Given the description of an element on the screen output the (x, y) to click on. 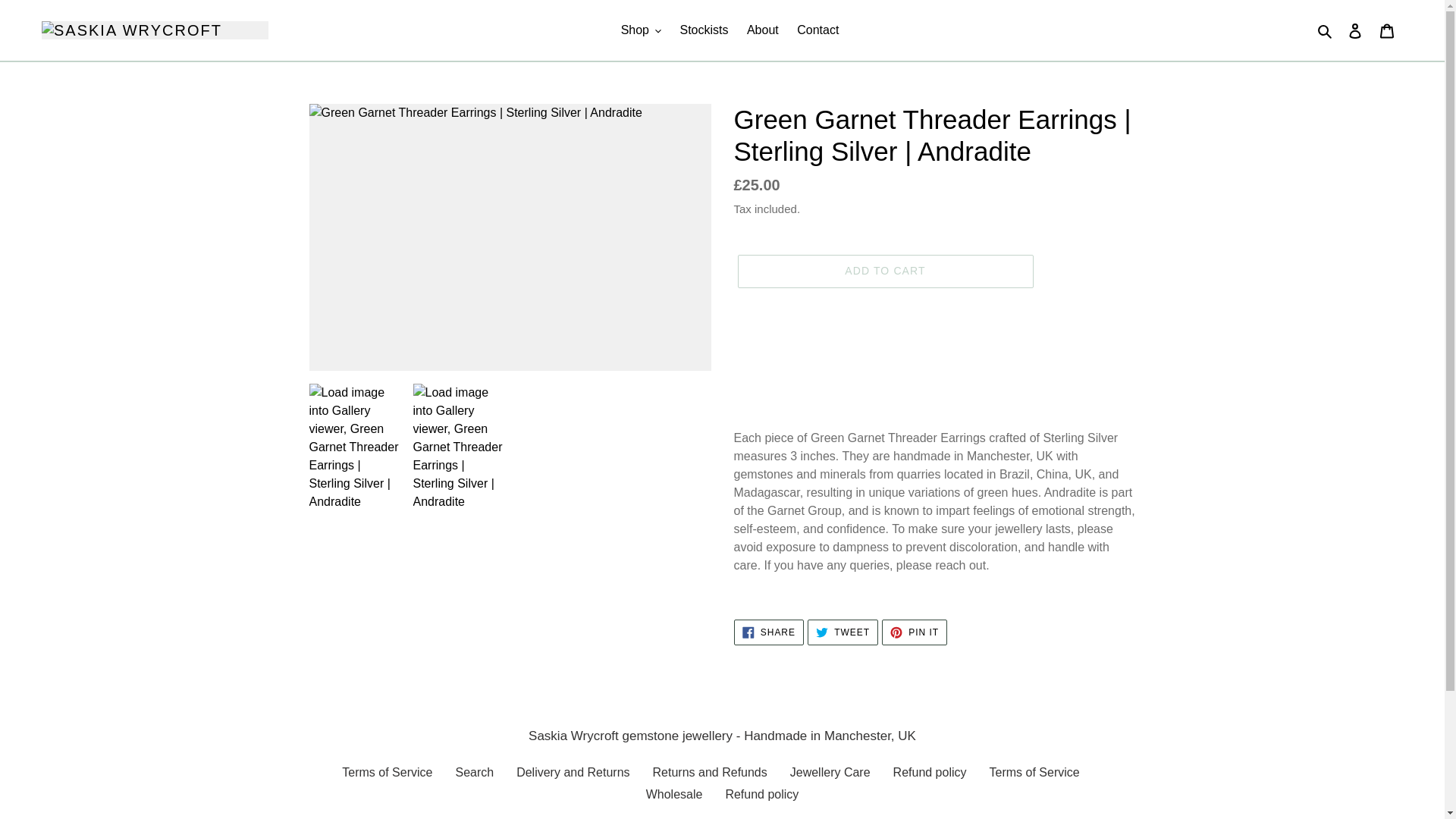
Log in (1355, 29)
About (762, 29)
Contact (817, 29)
Cart (1387, 29)
Search (1326, 30)
Stockists (703, 29)
Shop (640, 29)
